Given the description of an element on the screen output the (x, y) to click on. 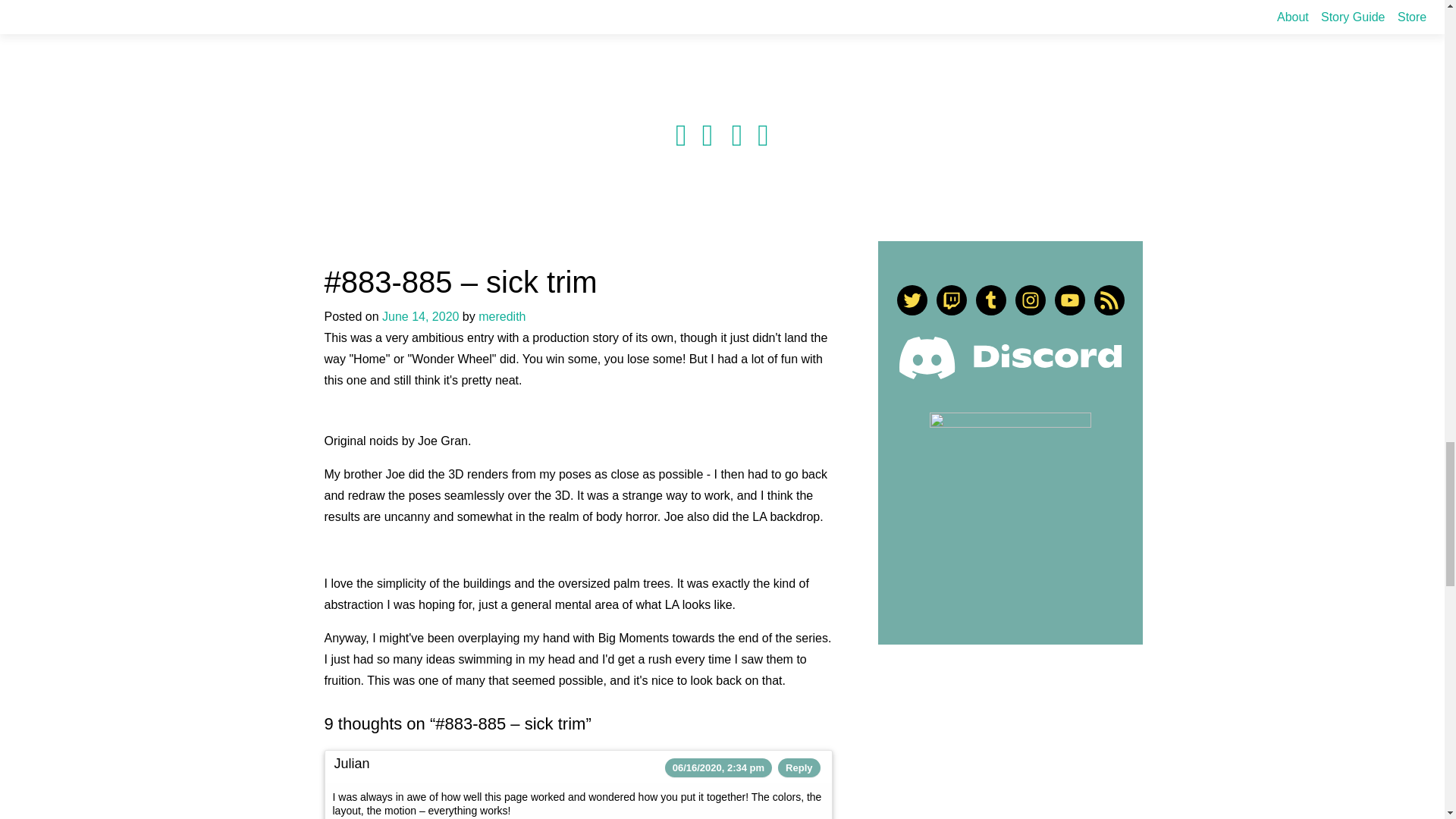
June 14, 2020 (419, 316)
Reply (799, 767)
meredith (502, 316)
